Given the description of an element on the screen output the (x, y) to click on. 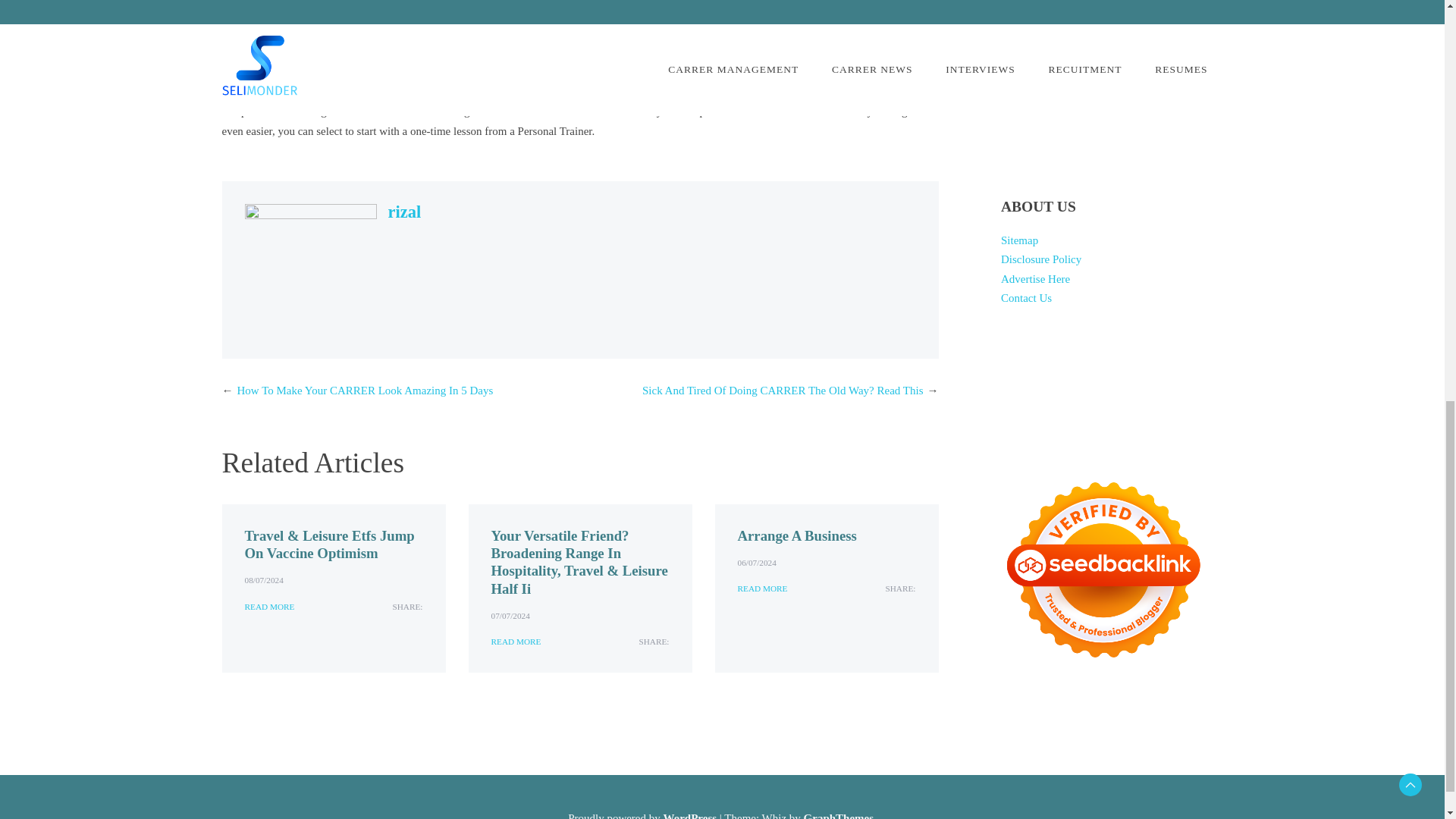
Sick And Tired Of Doing CARRER The Old Way? Read This (782, 390)
READ MORE (761, 588)
rizal (405, 211)
How To Make Your CARRER Look Amazing In 5 Days (364, 390)
READ MORE (516, 641)
READ MORE (269, 606)
Arrange A Business (796, 535)
Seedbacklink (1103, 569)
